Given the description of an element on the screen output the (x, y) to click on. 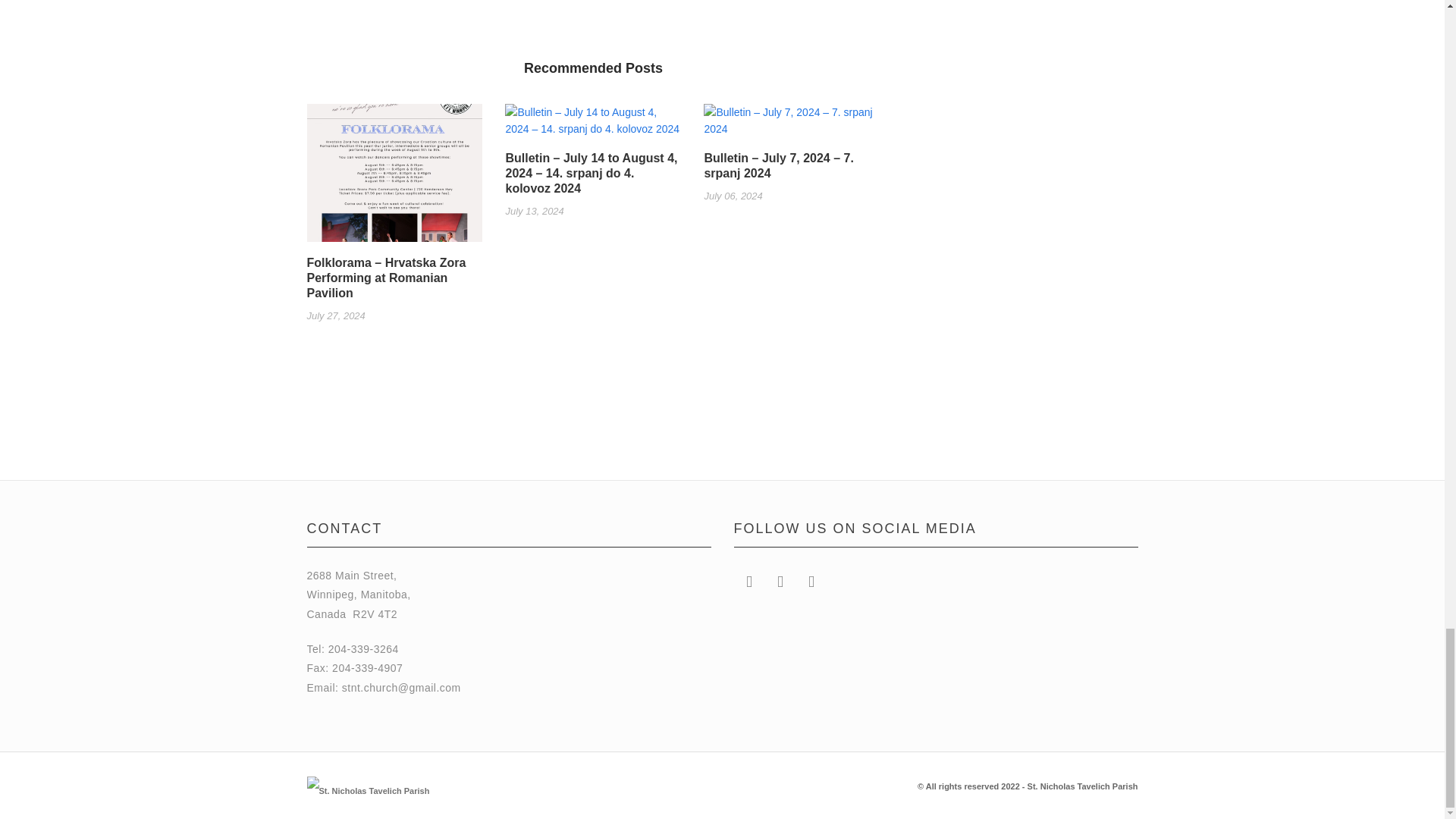
Folklorama - Hrvatska Zora Performing at Romanian Pavilion (393, 178)
